Given the description of an element on the screen output the (x, y) to click on. 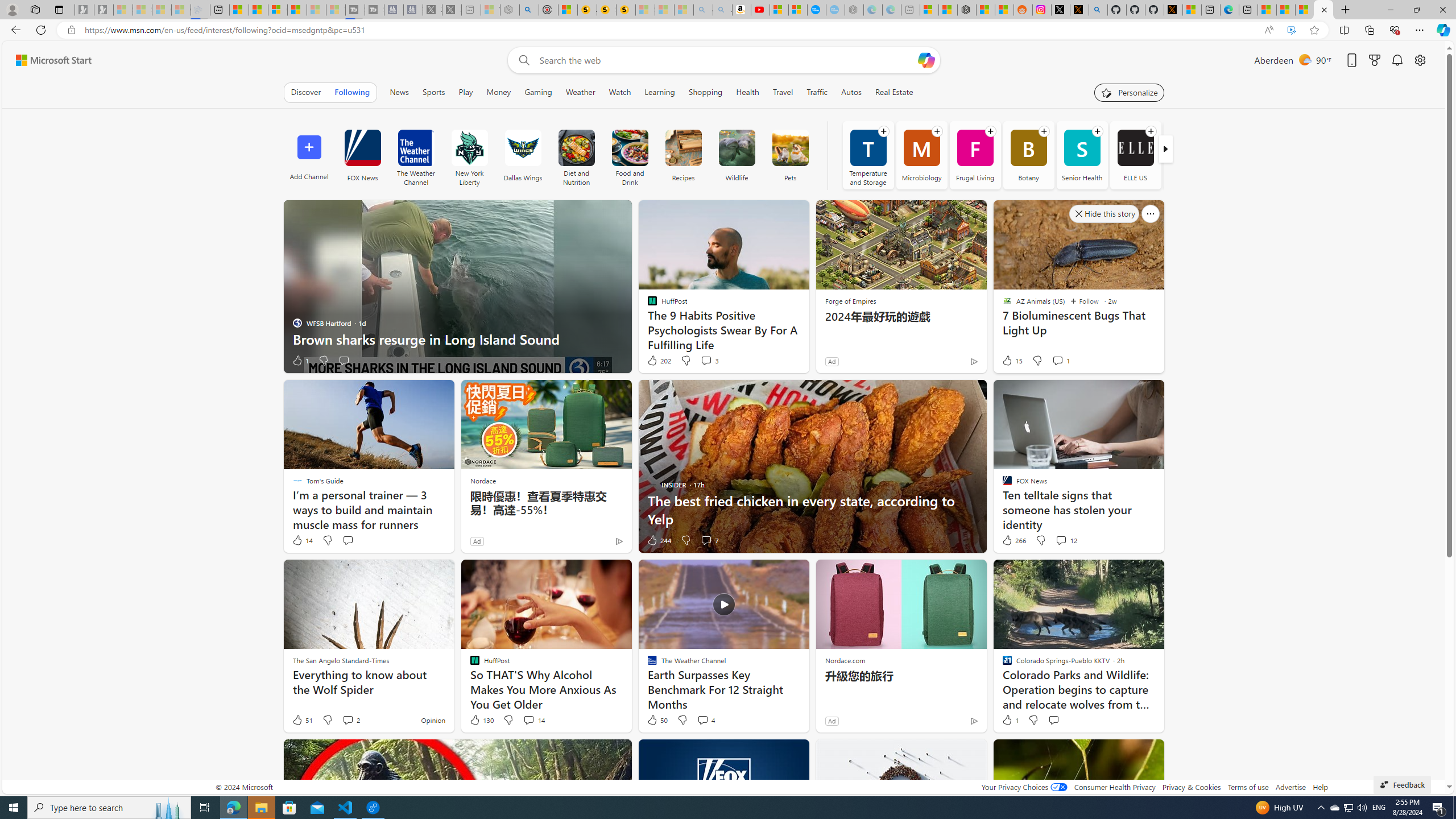
Learning (659, 92)
MSNBC - MSN (1285, 9)
View comments 12 Comment (1065, 539)
Traffic (817, 92)
Travel (782, 92)
Welcome to Microsoft Edge (1229, 9)
Gaming (537, 92)
View comments 4 Comment (705, 719)
Botany (1028, 155)
Gaming (537, 92)
Food and Drink (629, 155)
